Given the description of an element on the screen output the (x, y) to click on. 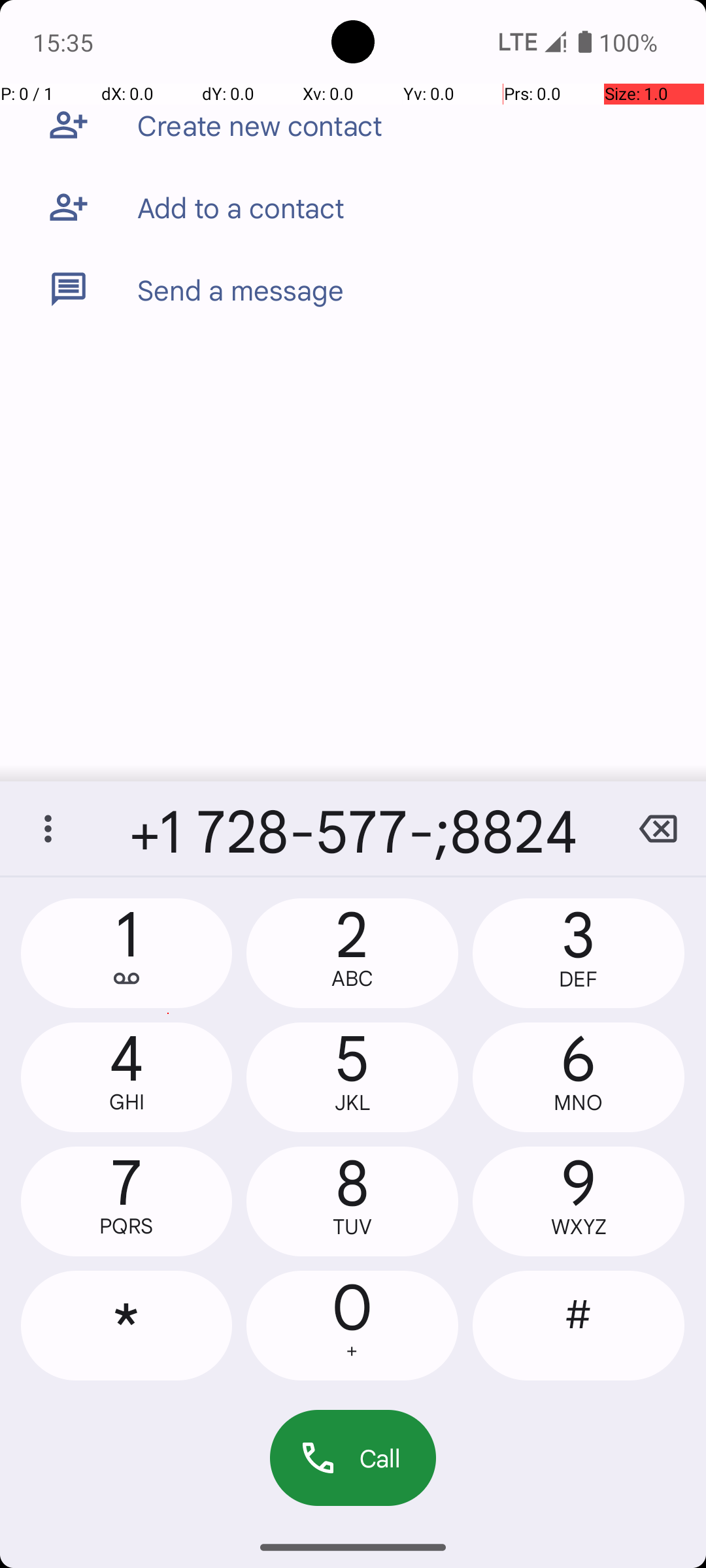
+1 728-577-;8824 Element type: android.widget.EditText (352, 828)
